Given the description of an element on the screen output the (x, y) to click on. 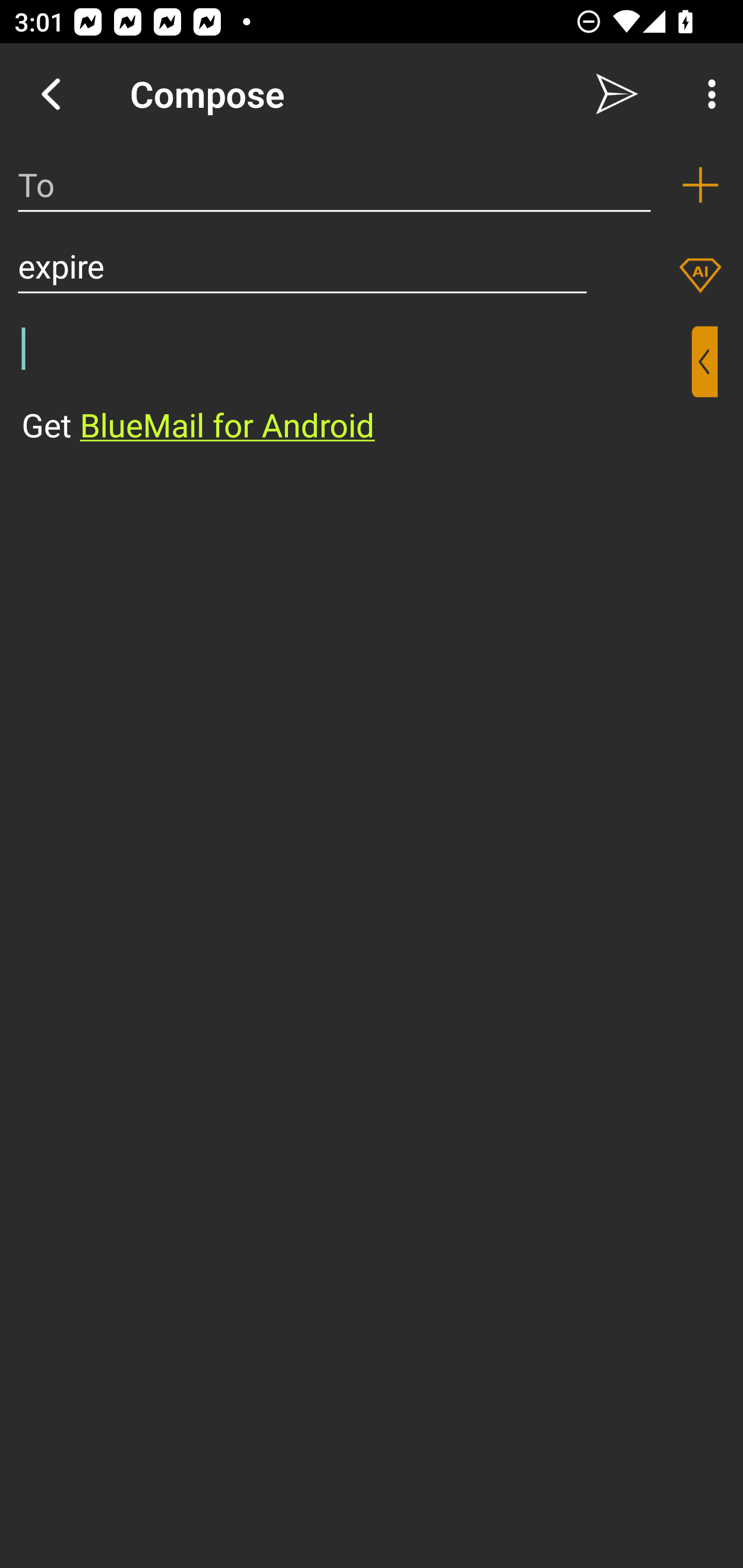
Navigate up (50, 93)
Send (616, 93)
More Options (706, 93)
To (334, 184)
Add recipient (To) (699, 184)
expire (302, 266)


⁣Get BlueMail for Android ​ (355, 386)
